Given the description of an element on the screen output the (x, y) to click on. 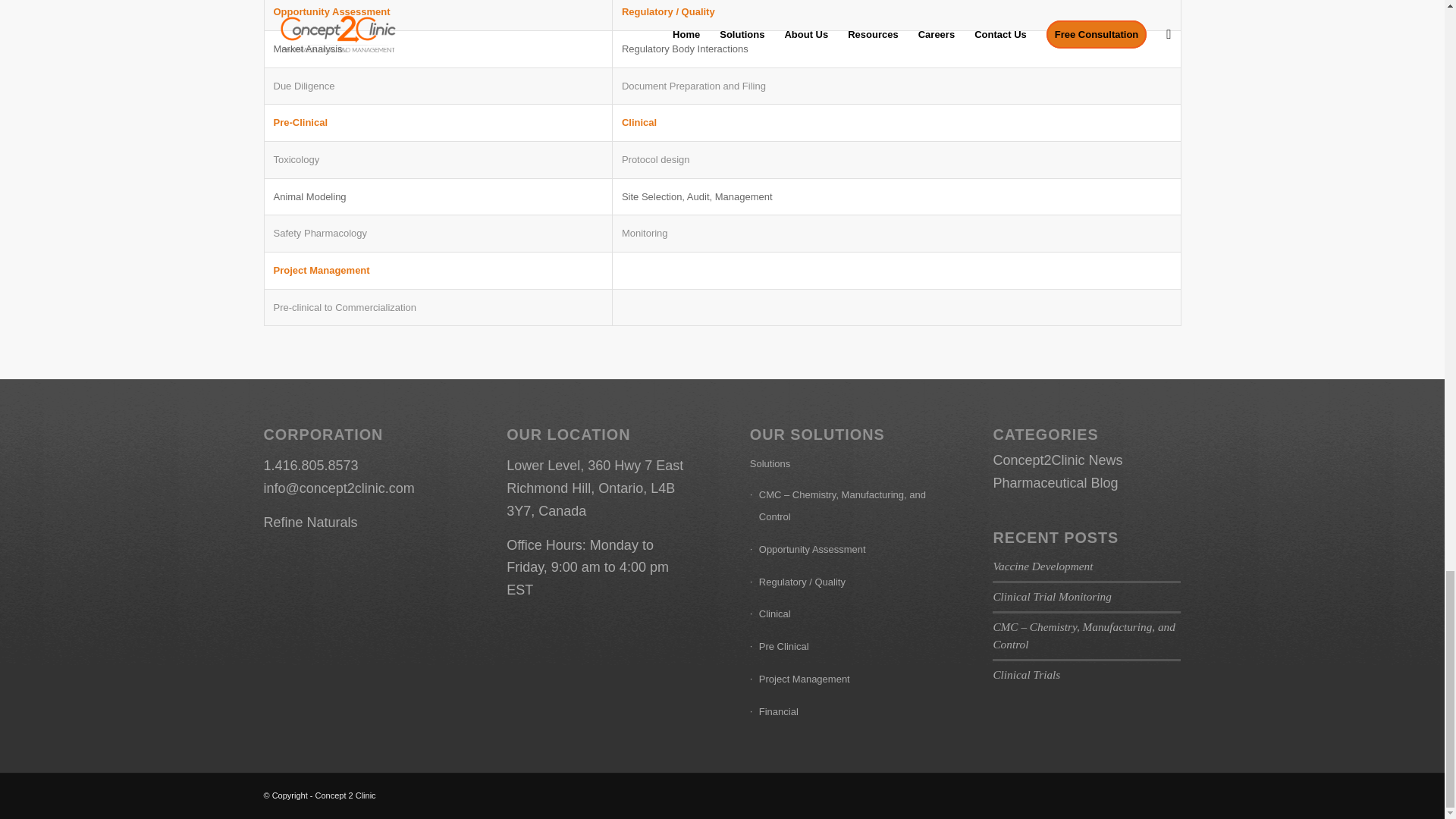
Refine Naturals (310, 522)
Solutions (843, 464)
Concept2Clinic News (1057, 459)
